Given the description of an element on the screen output the (x, y) to click on. 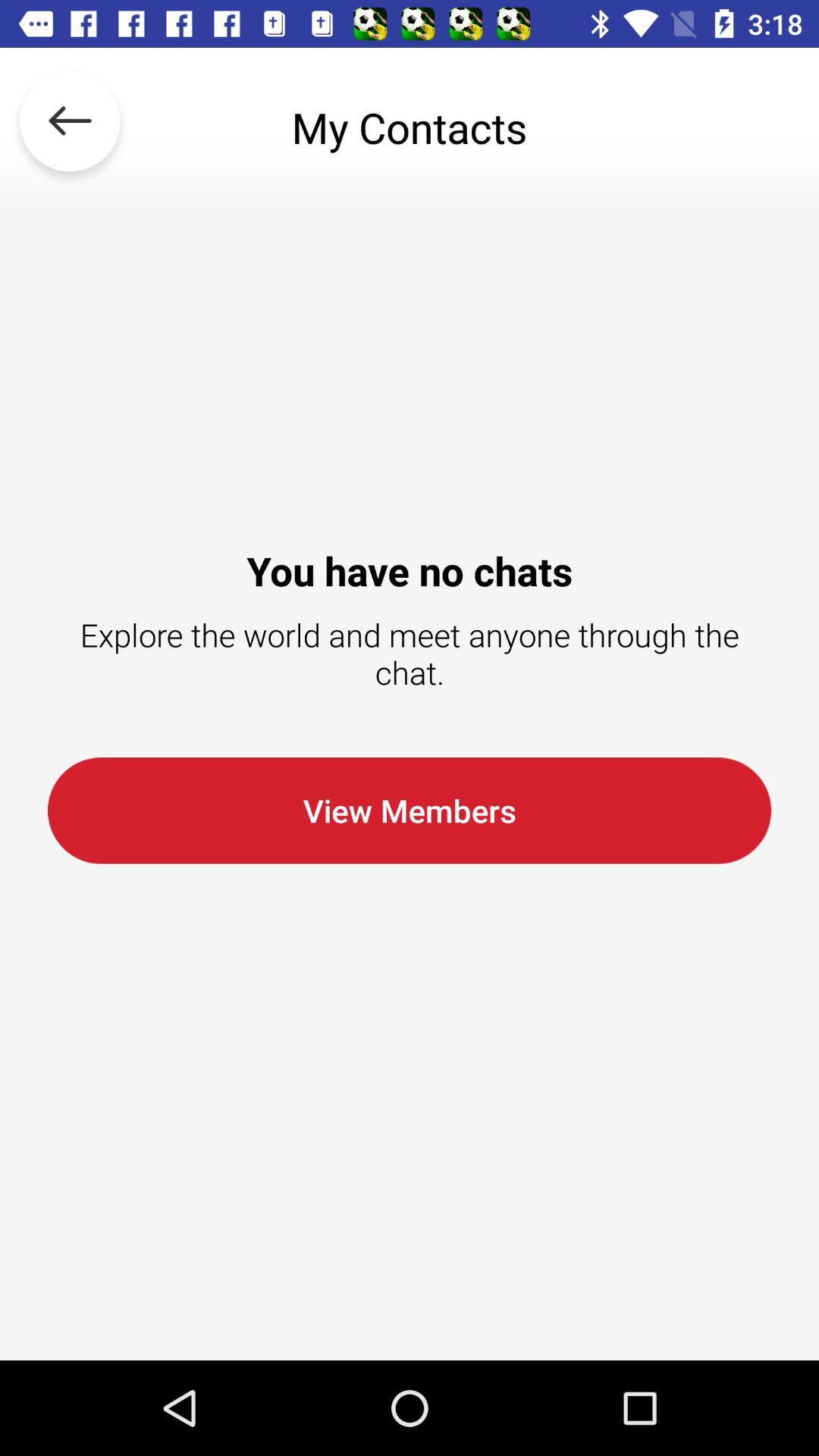
turn off the item at the top left corner (69, 127)
